Given the description of an element on the screen output the (x, y) to click on. 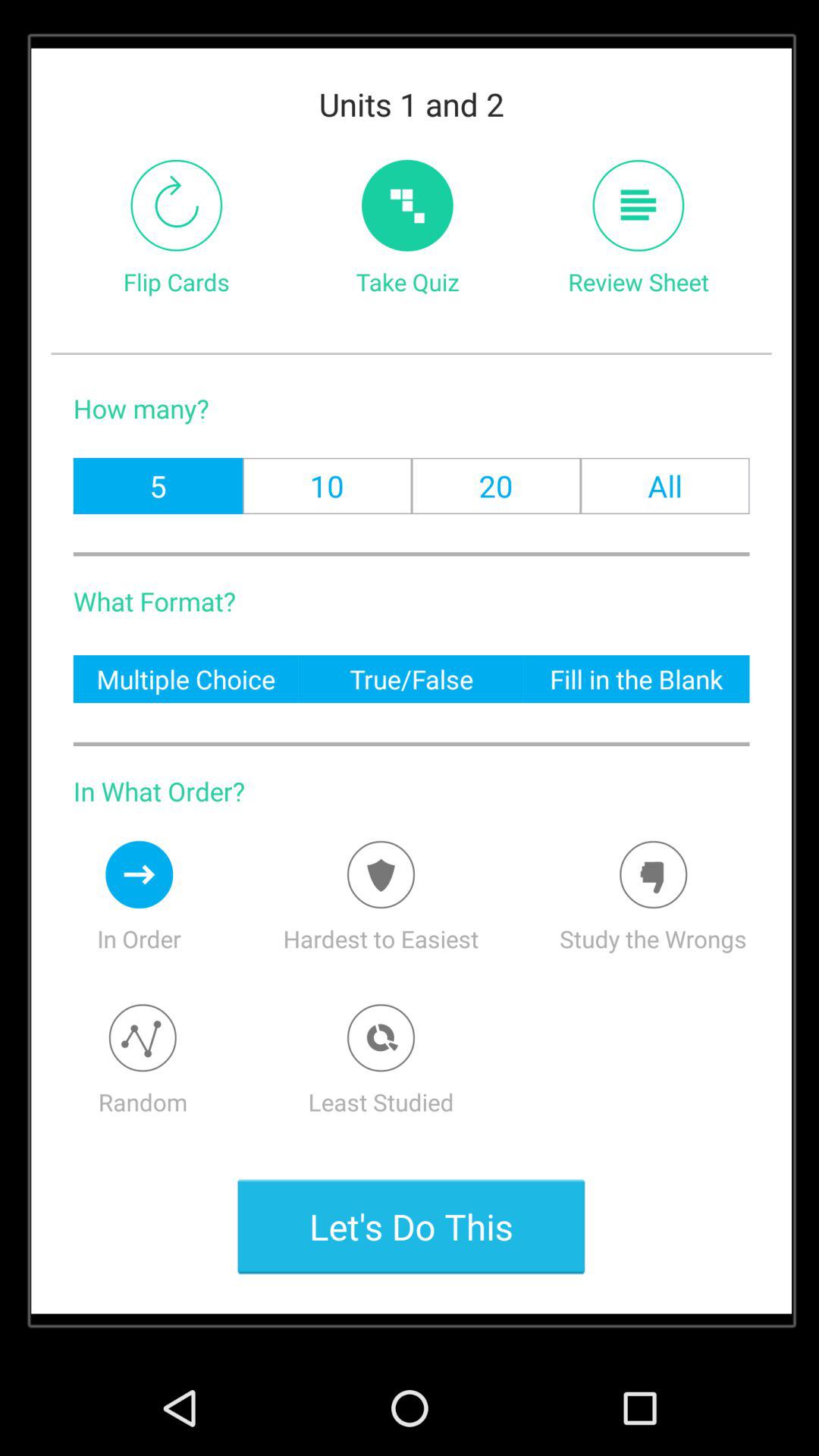
open review sheet (638, 205)
